Given the description of an element on the screen output the (x, y) to click on. 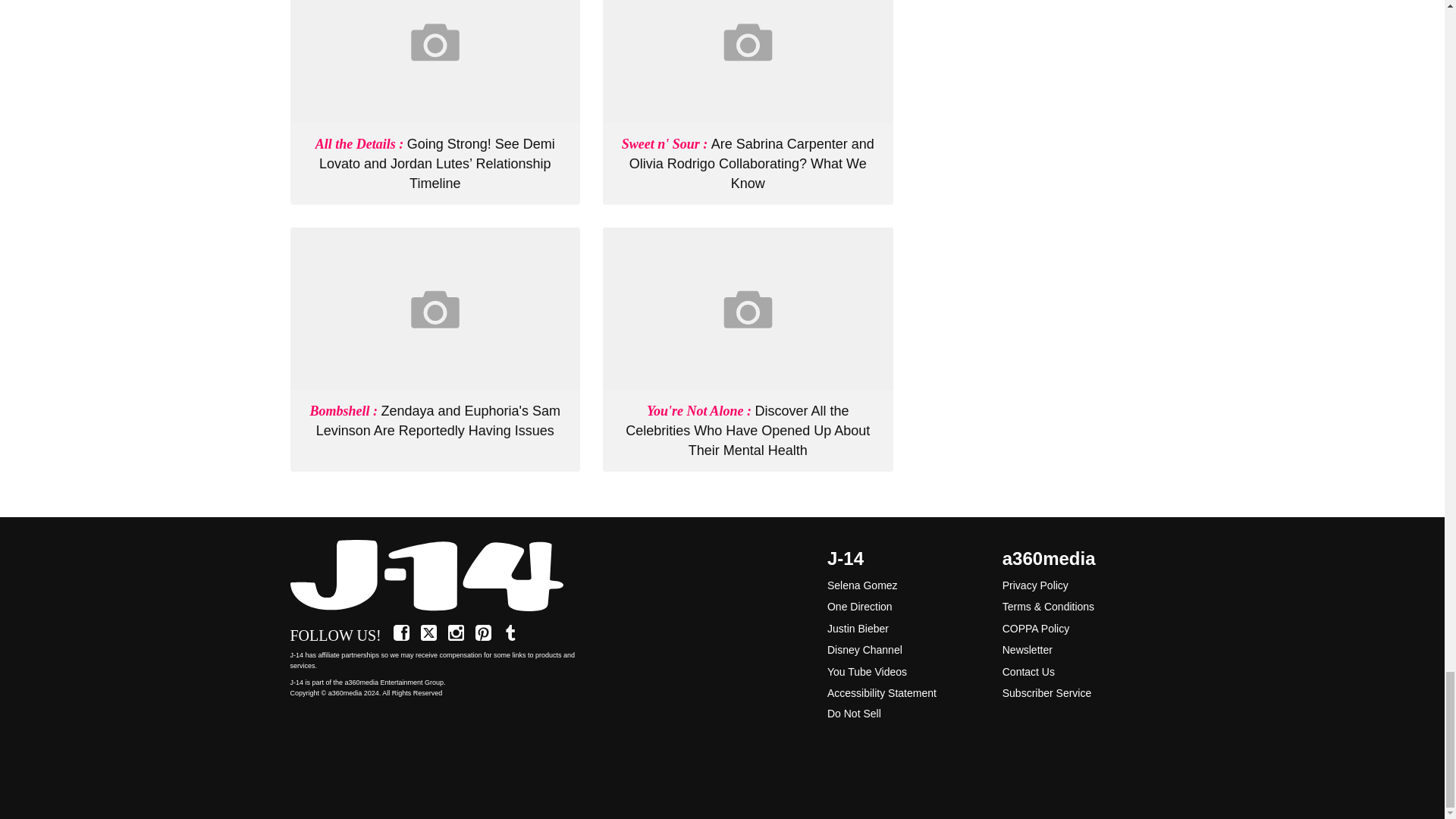
Home (434, 576)
